Given the description of an element on the screen output the (x, y) to click on. 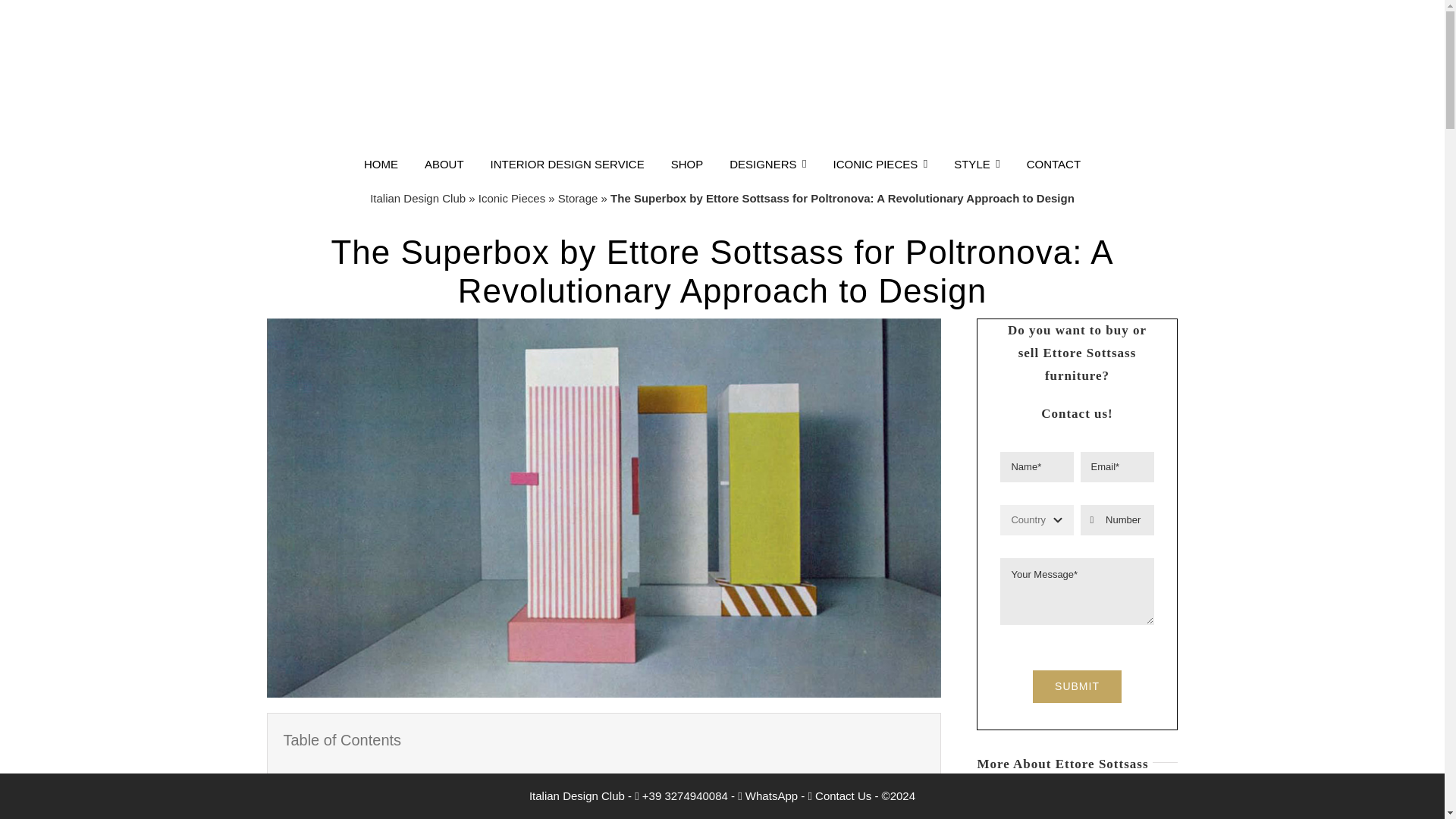
INTERIOR DESIGN SERVICE (567, 164)
Storage (577, 197)
ABOUT (444, 164)
STYLE (976, 164)
HOME (380, 164)
Iconic Pieces (511, 197)
DESIGNERS (767, 164)
ICONIC PIECES (880, 164)
Italian Design Club (417, 197)
CONTACT (1053, 164)
